Given the description of an element on the screen output the (x, y) to click on. 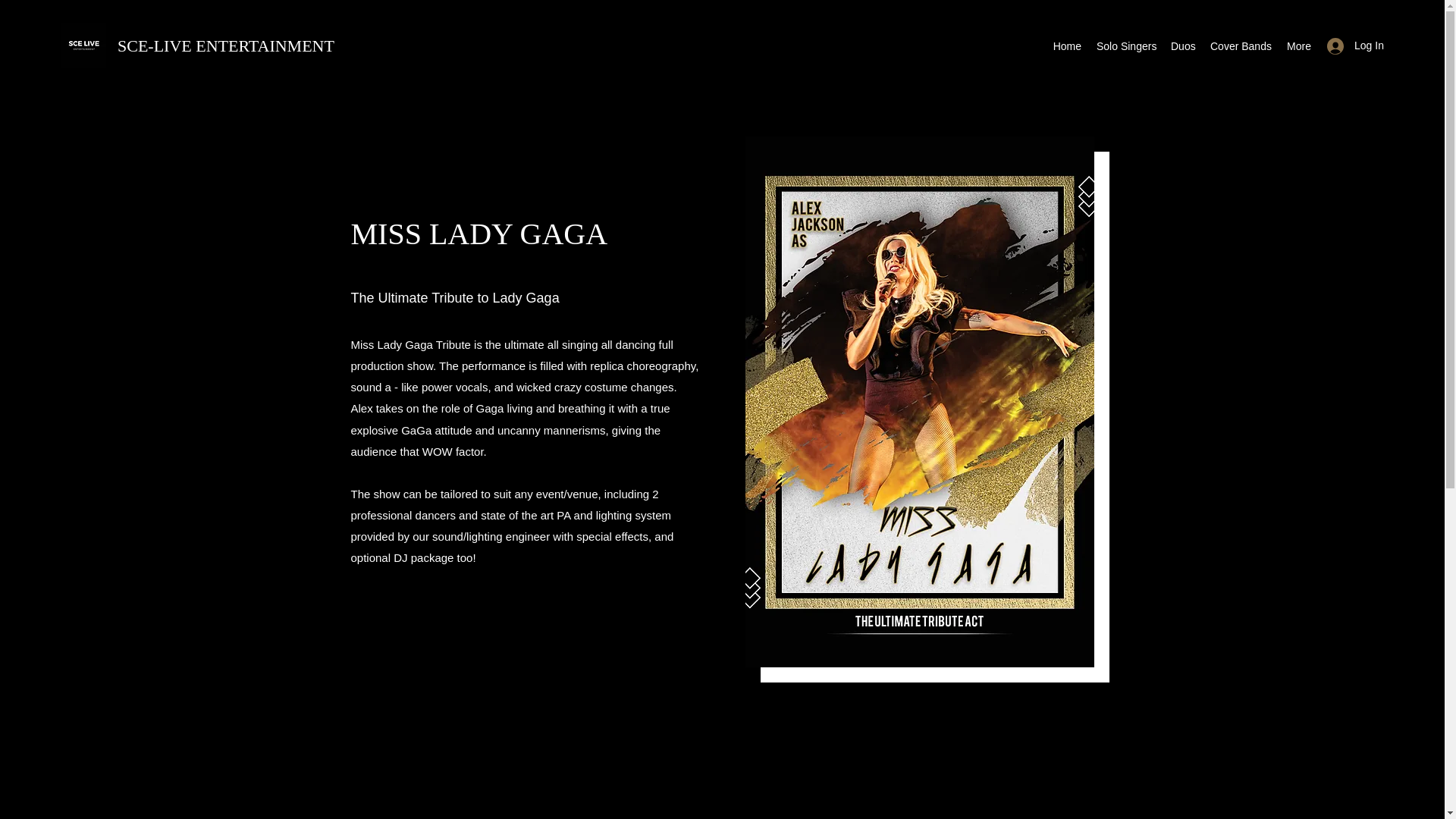
Duos (1182, 46)
External YouTube (721, 788)
Solo Singers (1126, 46)
Home (1067, 46)
Cover Bands (1240, 46)
SCE-LIVE ENTERTAINMENT (225, 45)
Log In (1350, 45)
